Given the description of an element on the screen output the (x, y) to click on. 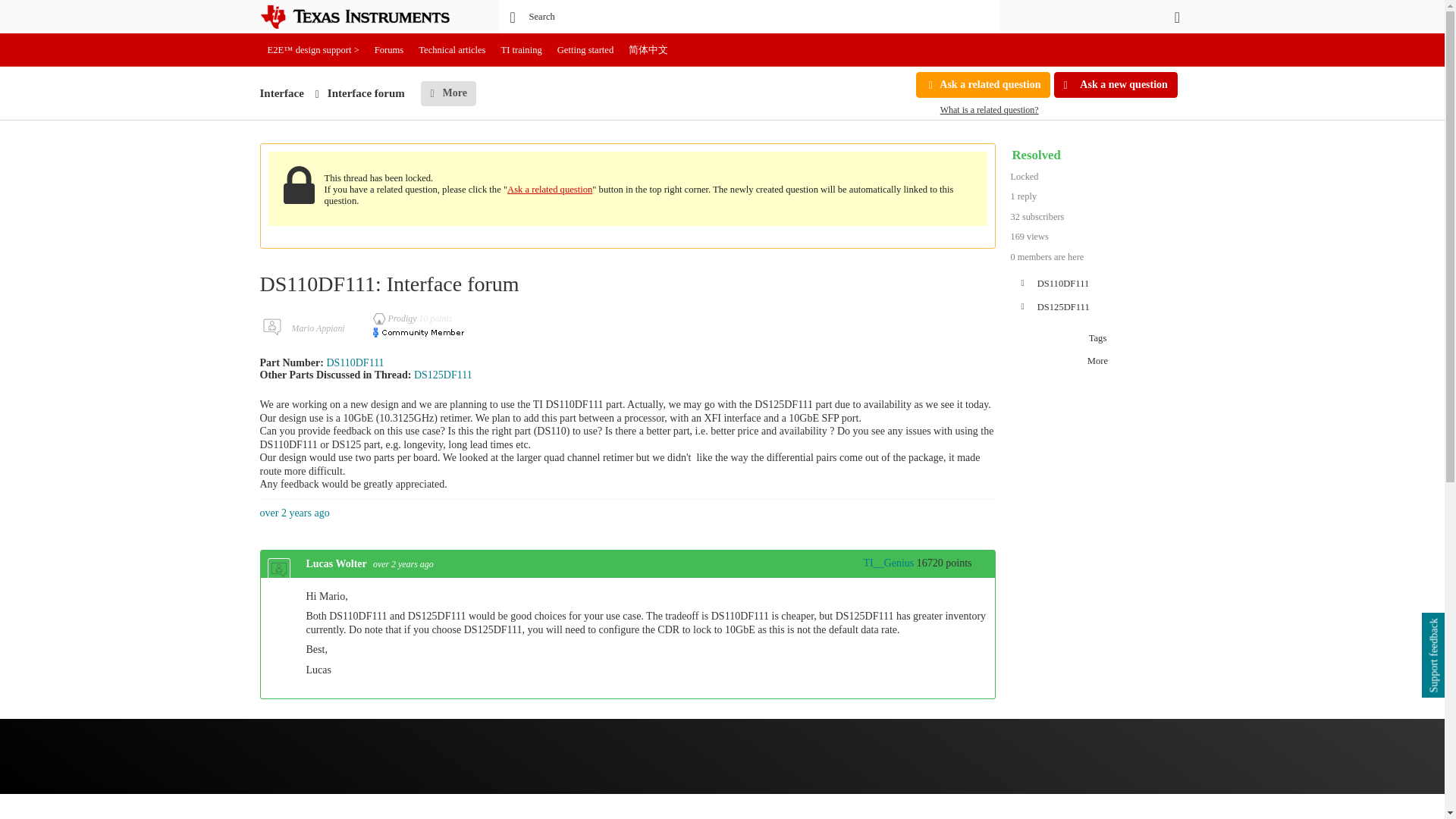
Getting started (585, 49)
Link to Product Folder (442, 374)
Home (365, 16)
User (1177, 17)
Click here for explanation of levels (881, 562)
TI training (521, 49)
Click here for explanation of levels (395, 317)
Forums (389, 49)
Link to Product Folder (355, 362)
Technical articles (451, 49)
Join or sign in (1177, 17)
